Given the description of an element on the screen output the (x, y) to click on. 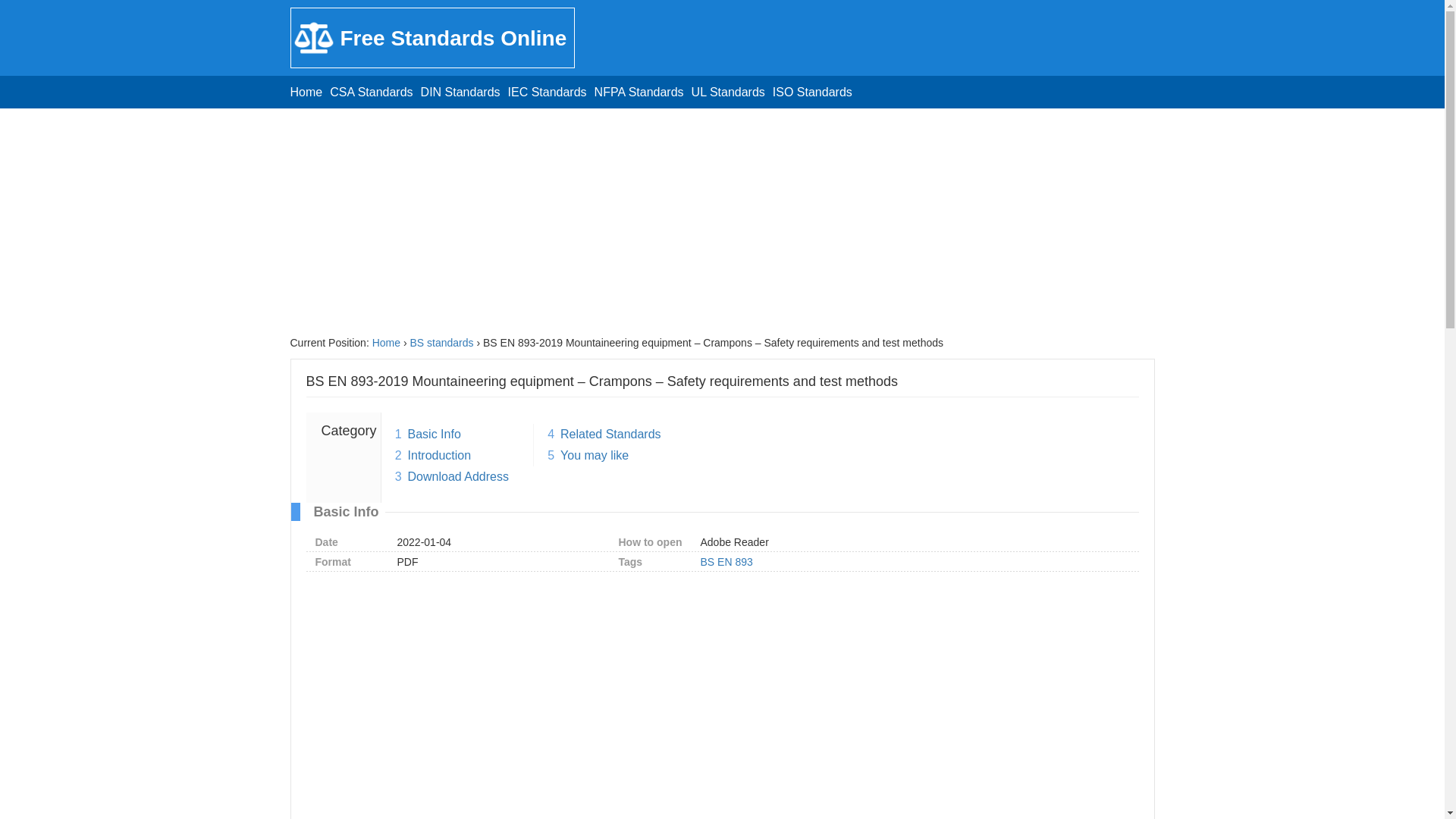
UL Standards (728, 91)
Related Standards (610, 433)
Home (305, 91)
You may like (594, 454)
BS EN 893 (726, 562)
ISO Standards (812, 91)
Download Address (457, 476)
Free Standards Online (432, 37)
NFPA Standards (639, 91)
CSA Standards (371, 91)
Introduction (439, 454)
IEC Standards (547, 91)
Basic Info (434, 433)
BS standards (441, 342)
